Given the description of an element on the screen output the (x, y) to click on. 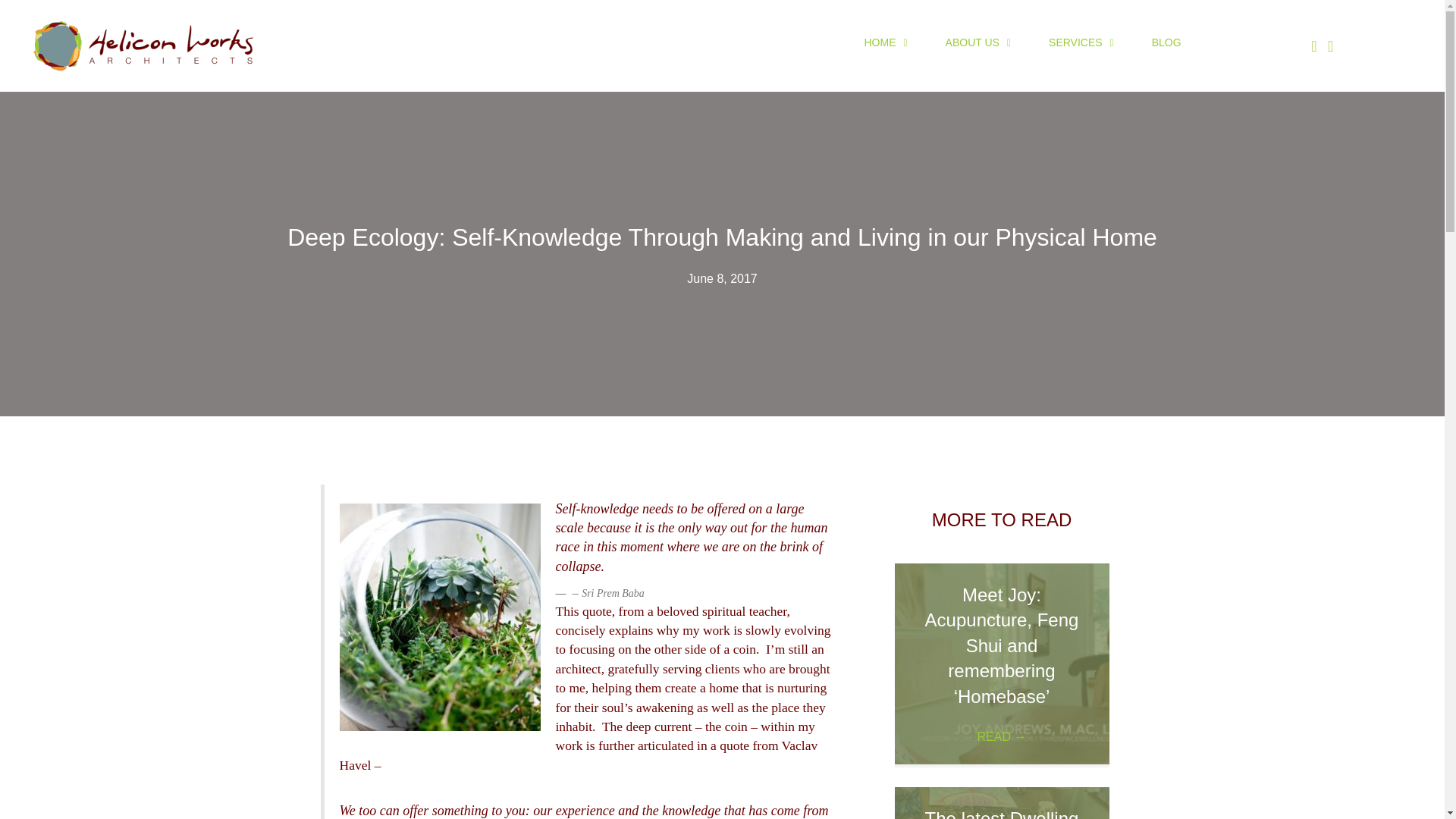
SERVICES (1081, 41)
The latest Dwelling workshop (1001, 813)
HOME (884, 41)
BLOG (1166, 41)
ABOUT US (978, 41)
